Given the description of an element on the screen output the (x, y) to click on. 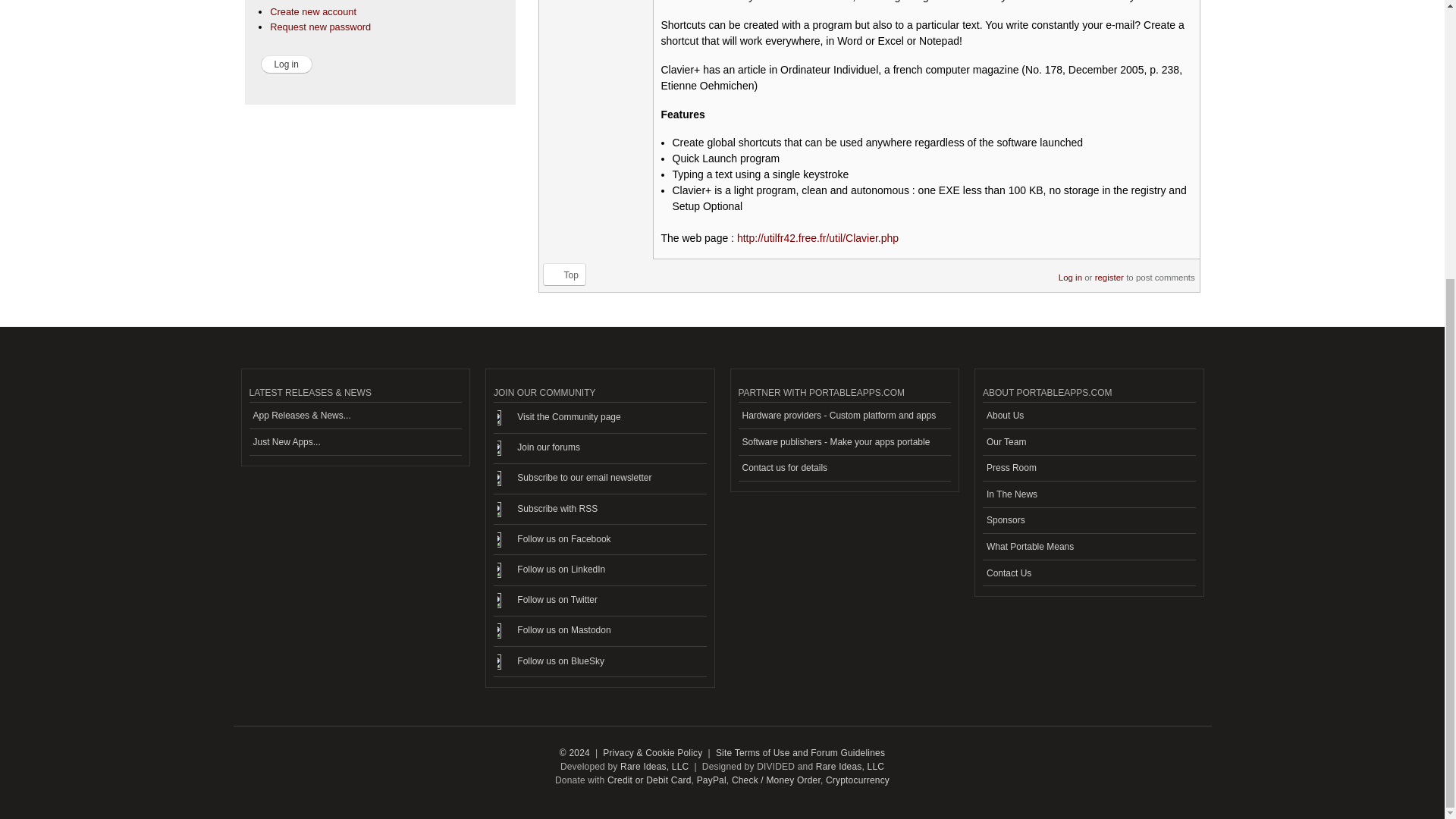
Visit the Community page (599, 417)
Just New Apps... (354, 442)
Log in (286, 64)
Jump to top of page (564, 273)
Subscribe to our email newsletter (599, 479)
Join our forums (599, 449)
Like us on Facebook (599, 539)
Request new password (320, 26)
Log in (286, 64)
register (1109, 272)
